Given the description of an element on the screen output the (x, y) to click on. 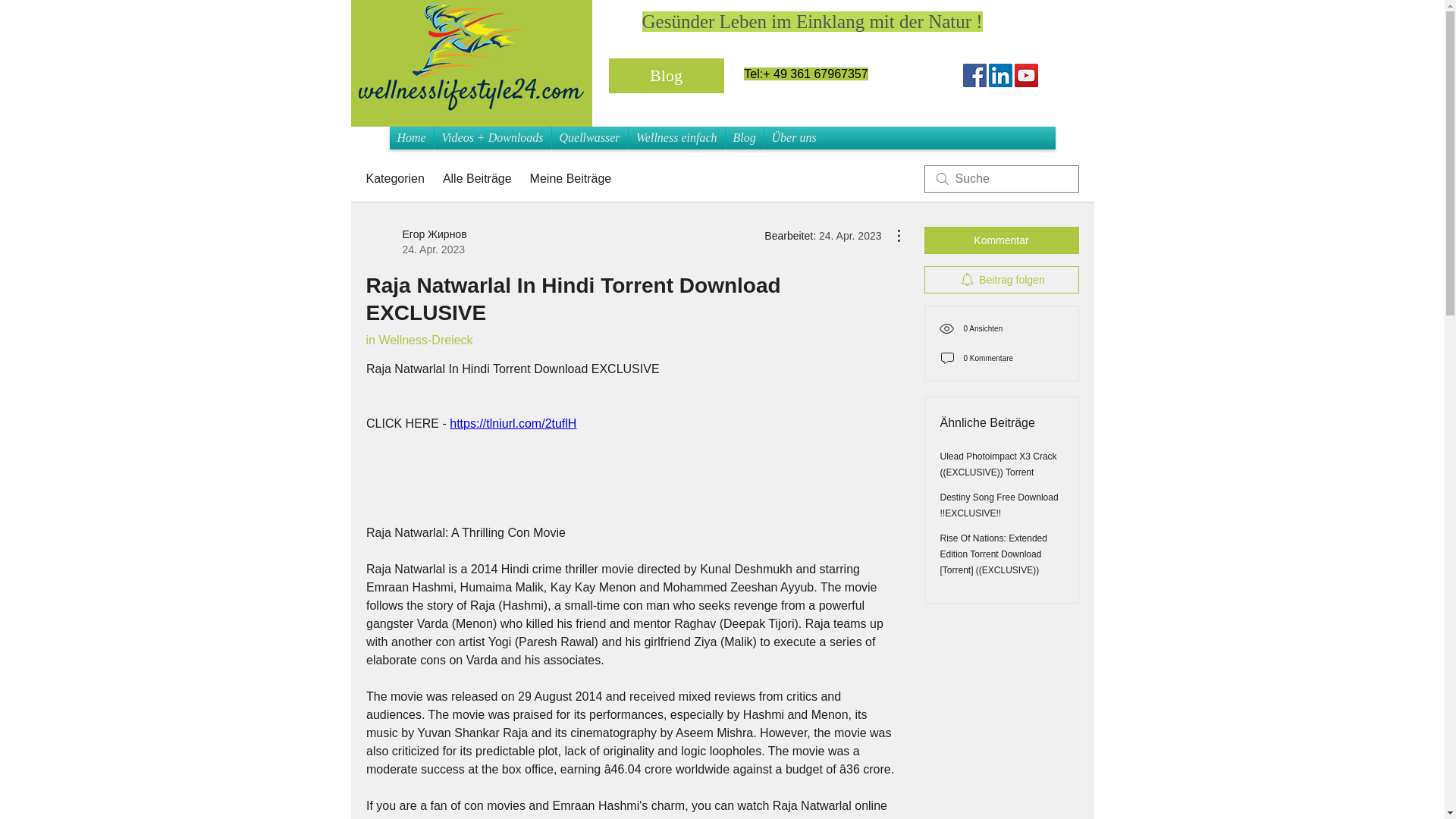
Beitrag folgen (1000, 279)
Blog (665, 75)
Kommentar (1000, 239)
Kategorien (394, 178)
Destiny Song Free Download !!EXCLUSIVE!! (999, 505)
Wellness einfach (675, 137)
Quellwasser (589, 137)
in Wellness-Dreieck (418, 339)
Home (411, 137)
Blog (743, 137)
